Given the description of an element on the screen output the (x, y) to click on. 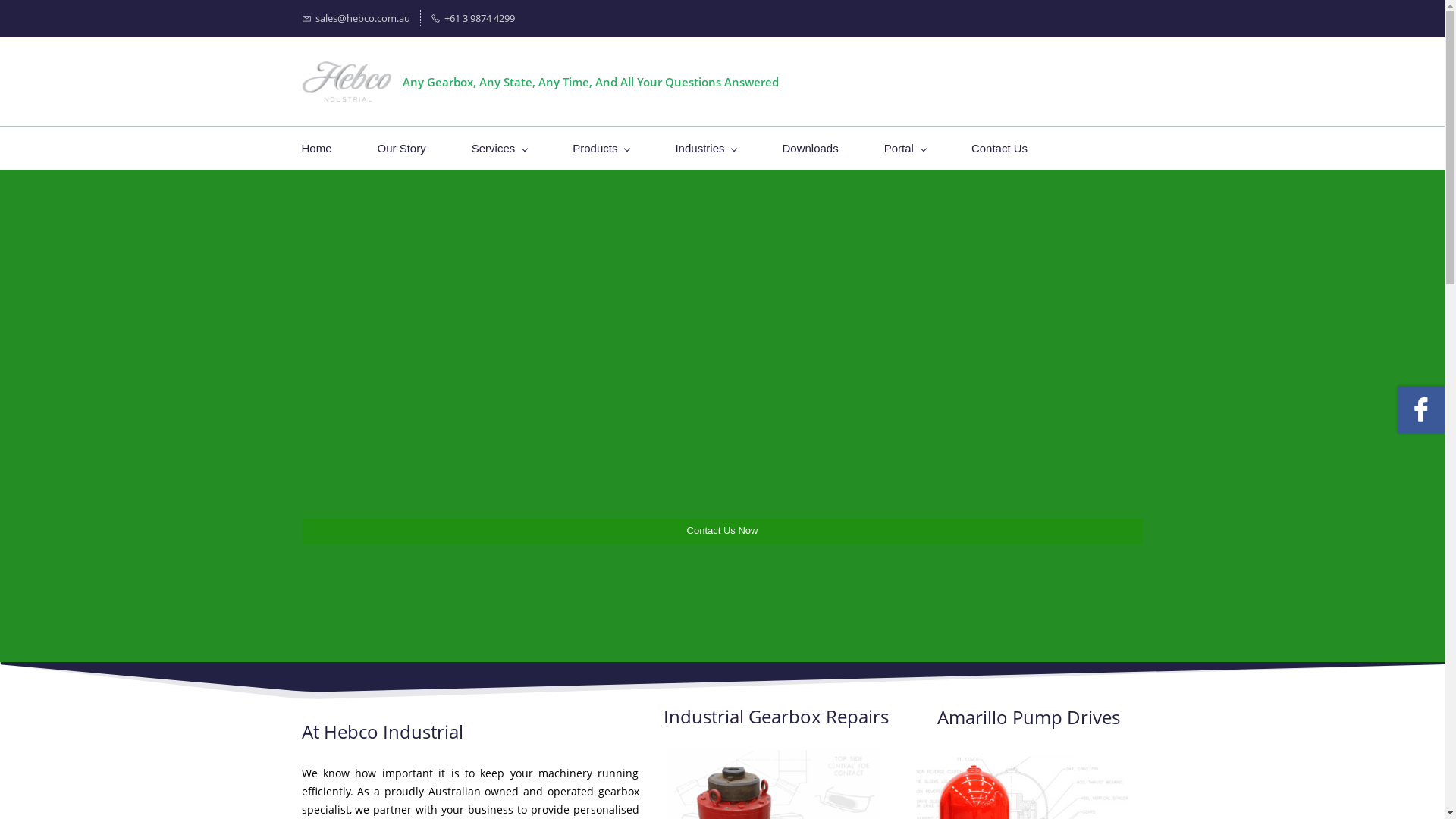
Downloads Element type: text (809, 147)
sales@hebco.com.au Element type: text (355, 18)
Services Element type: text (499, 147)
Portal Element type: text (904, 147)
+61 3 9874 4299 Element type: text (472, 18)
Home Element type: text (316, 147)
Contact Us Now Element type: text (721, 530)
Products Element type: text (600, 147)
Our Story Element type: text (401, 147)
Contact Us Element type: text (999, 147)
Industries Element type: text (705, 147)
